Given the description of an element on the screen output the (x, y) to click on. 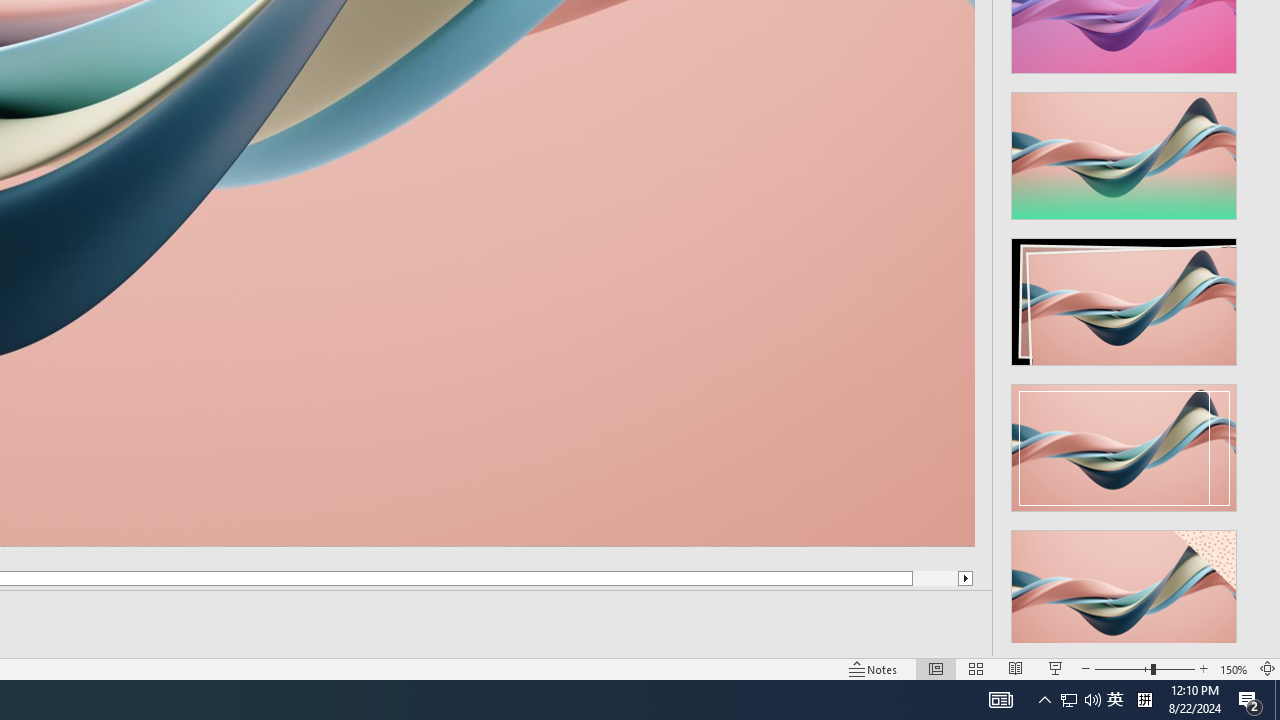
Zoom 150% (1234, 668)
